Given the description of an element on the screen output the (x, y) to click on. 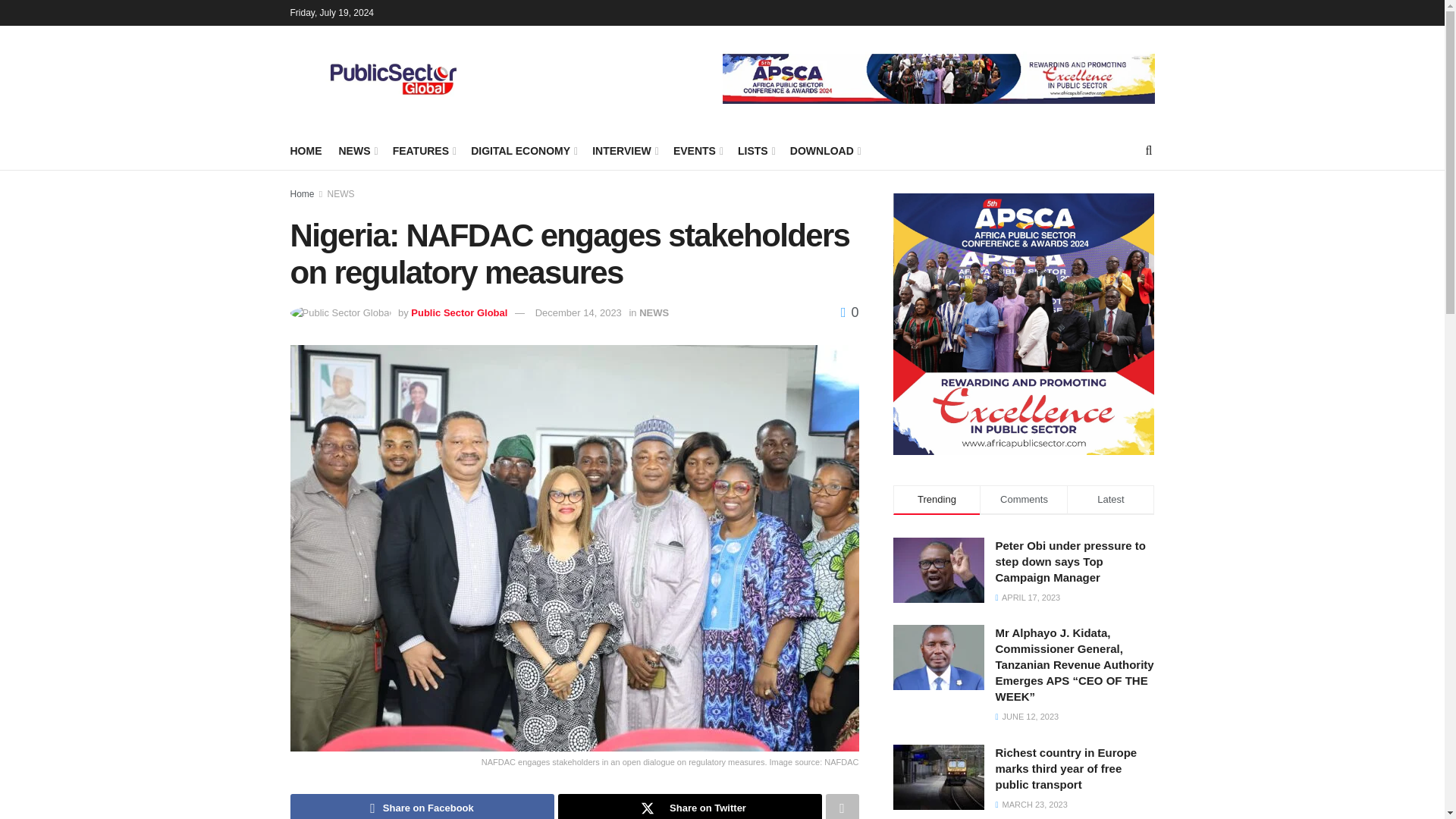
HOME (305, 150)
DIGITAL ECONOMY (522, 150)
FEATURES (423, 150)
NEWS (356, 150)
